Given the description of an element on the screen output the (x, y) to click on. 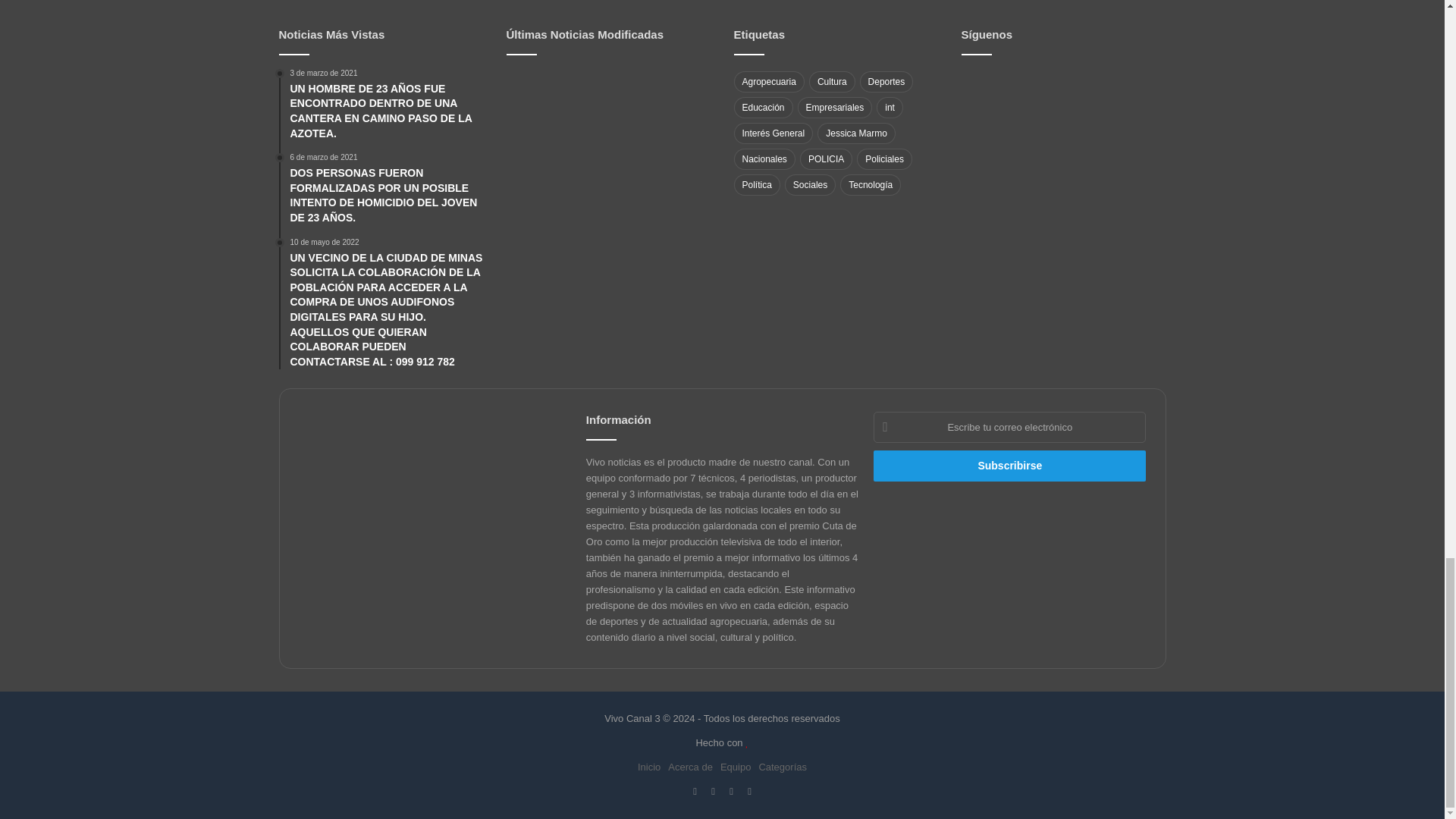
Subscribirse (1009, 465)
